Given the description of an element on the screen output the (x, y) to click on. 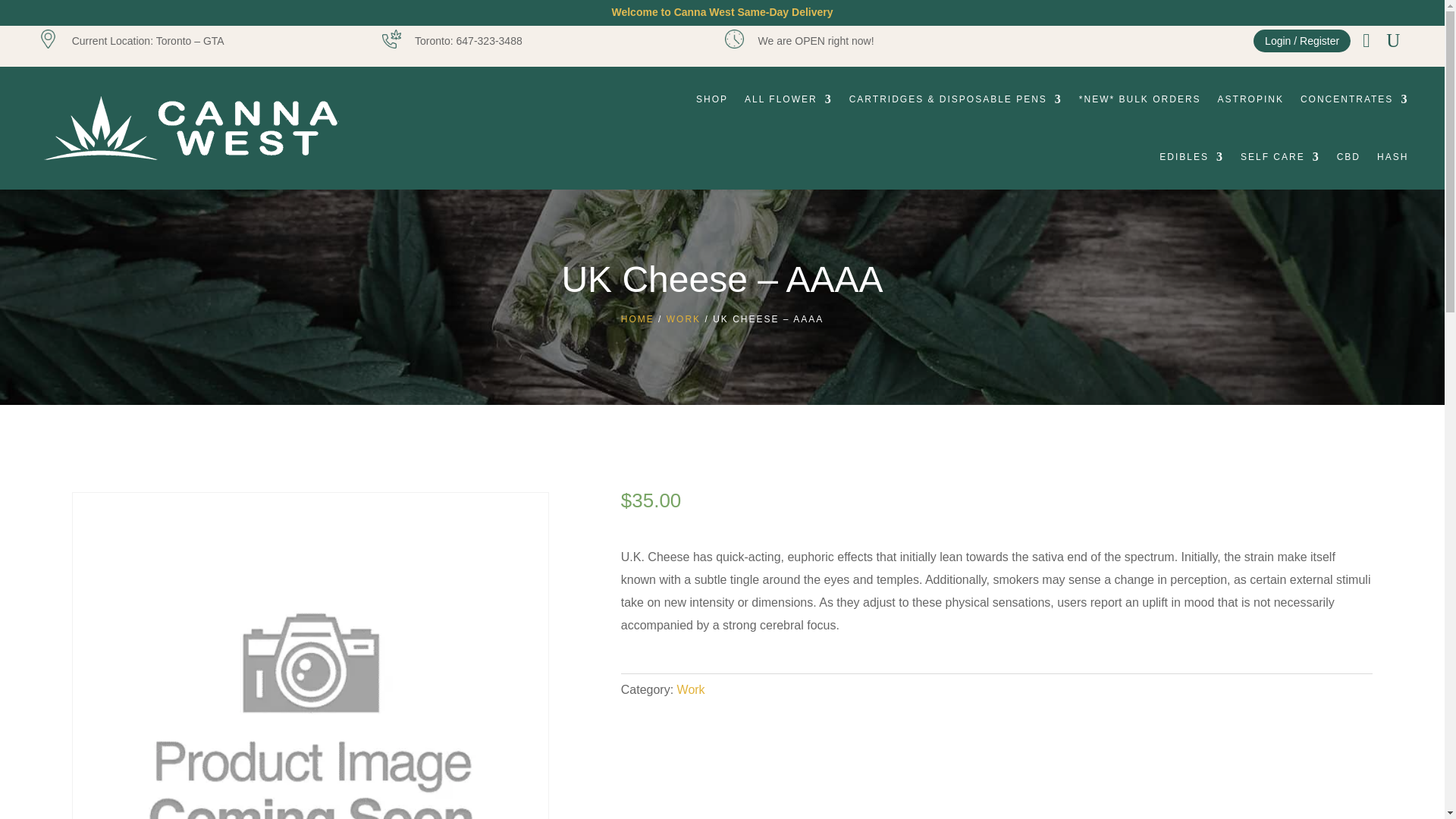
ASTROPINK (1250, 98)
CONCENTRATES (1353, 98)
Work (690, 689)
EDIBLES (1191, 156)
WORK (683, 318)
ALL FLOWER (788, 98)
SELF CARE (1280, 156)
HOME (637, 318)
